Given the description of an element on the screen output the (x, y) to click on. 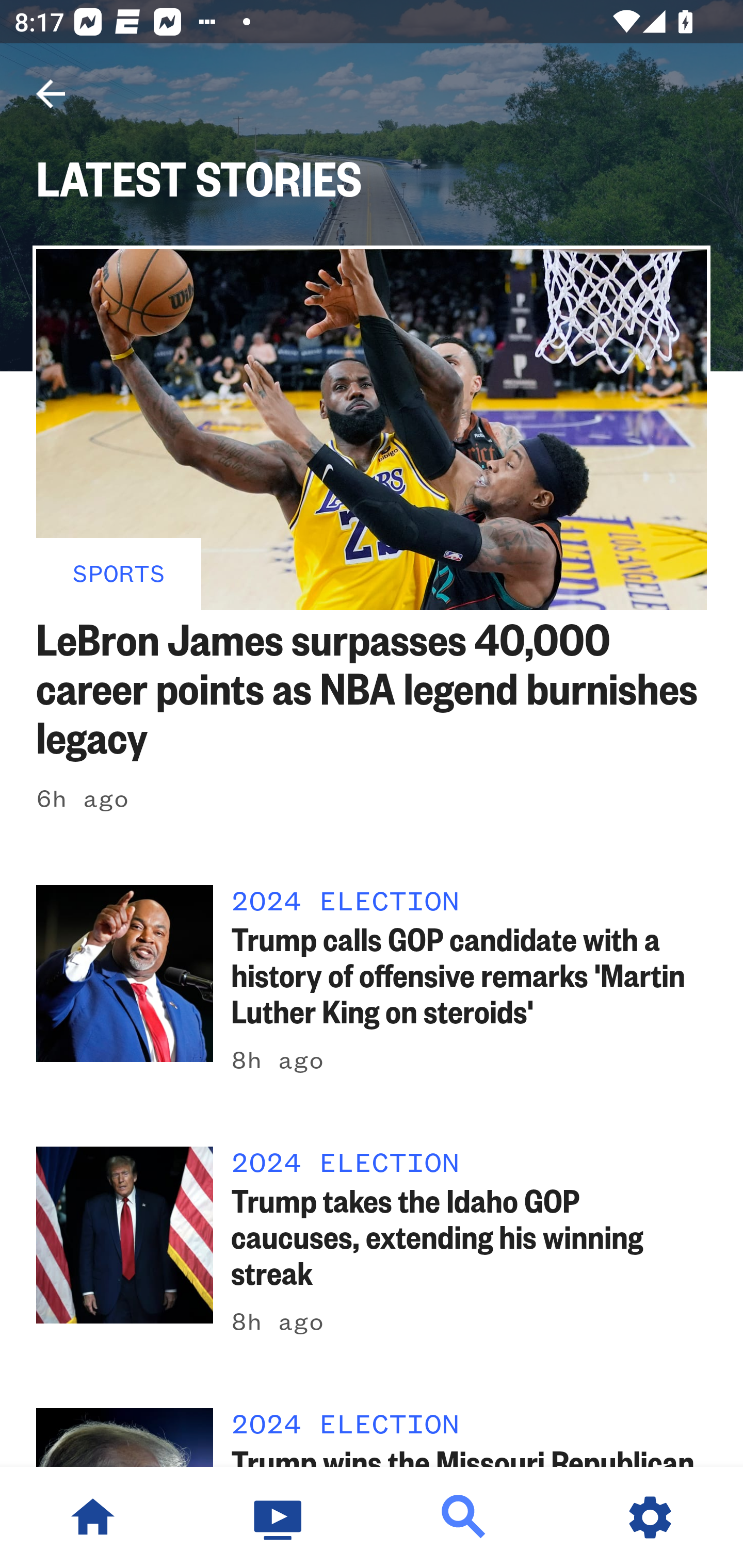
Navigate up (50, 93)
NBC News Home (92, 1517)
Watch (278, 1517)
Settings (650, 1517)
